Given the description of an element on the screen output the (x, y) to click on. 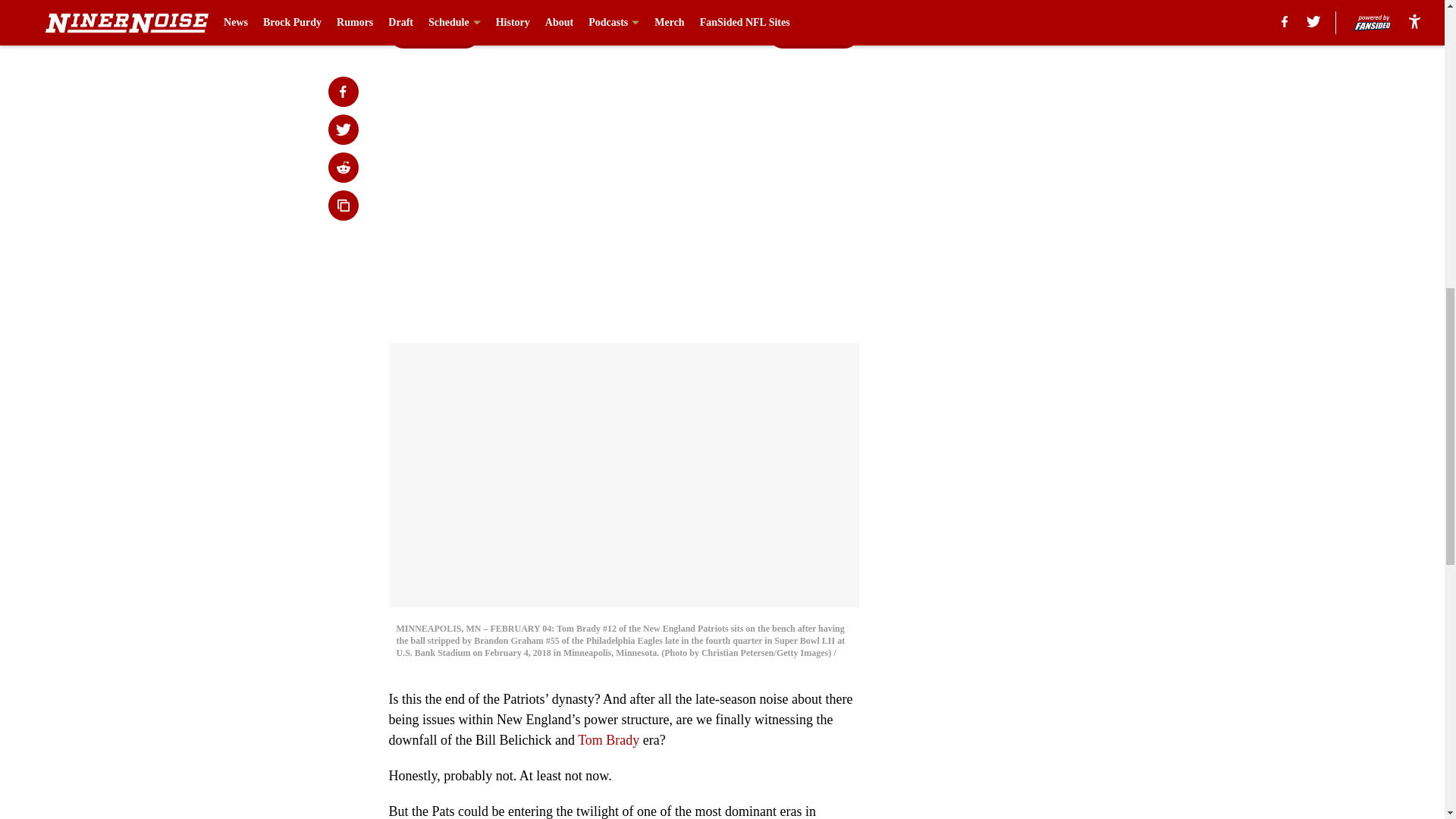
Next (813, 33)
Prev (433, 33)
Tom Brady (608, 739)
